Given the description of an element on the screen output the (x, y) to click on. 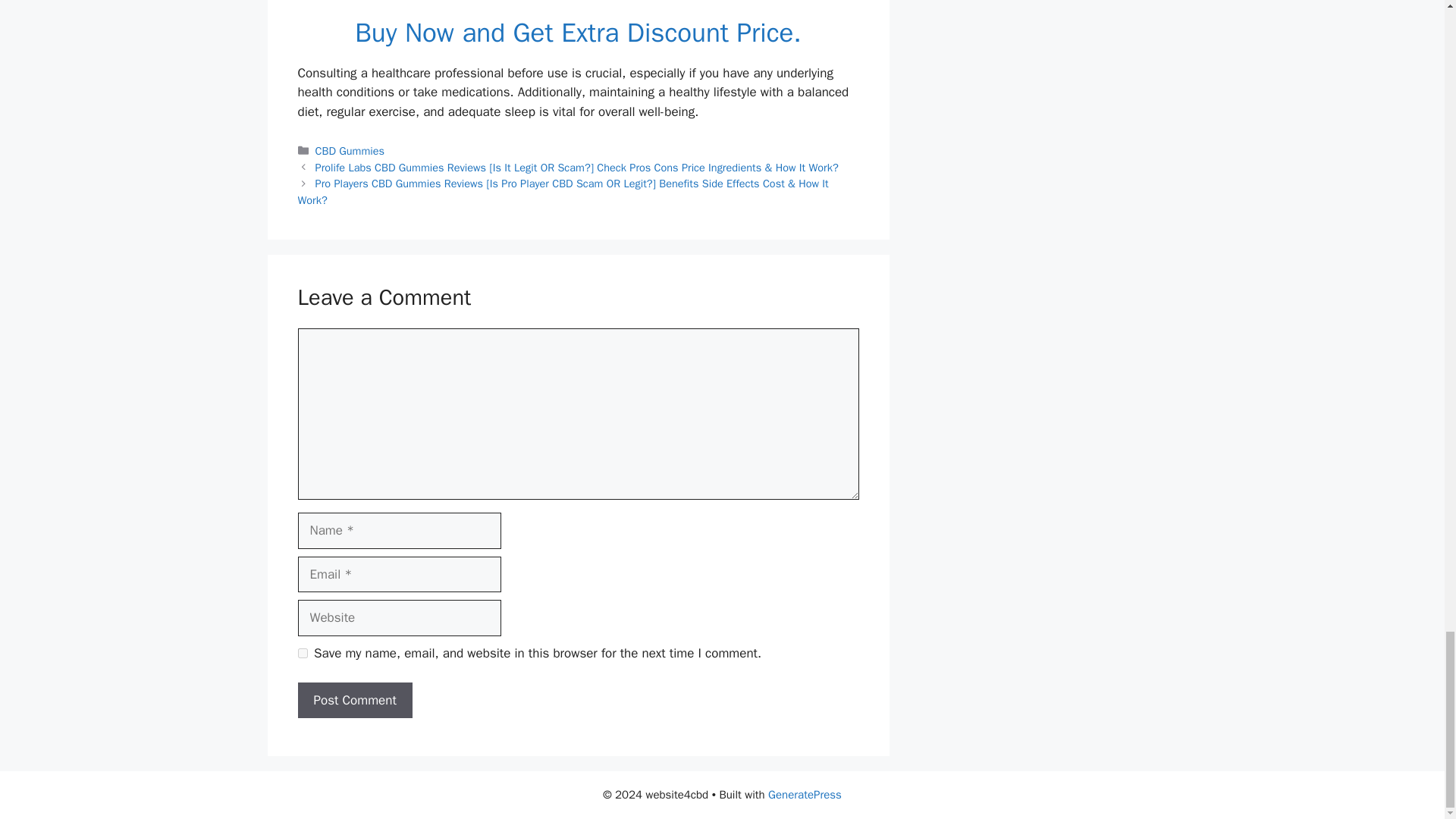
Post Comment (354, 700)
Buy Now and Get Extra Discount Price. (578, 32)
Post Comment (354, 700)
yes (302, 653)
CBD Gummies (349, 151)
GeneratePress (804, 794)
